Given the description of an element on the screen output the (x, y) to click on. 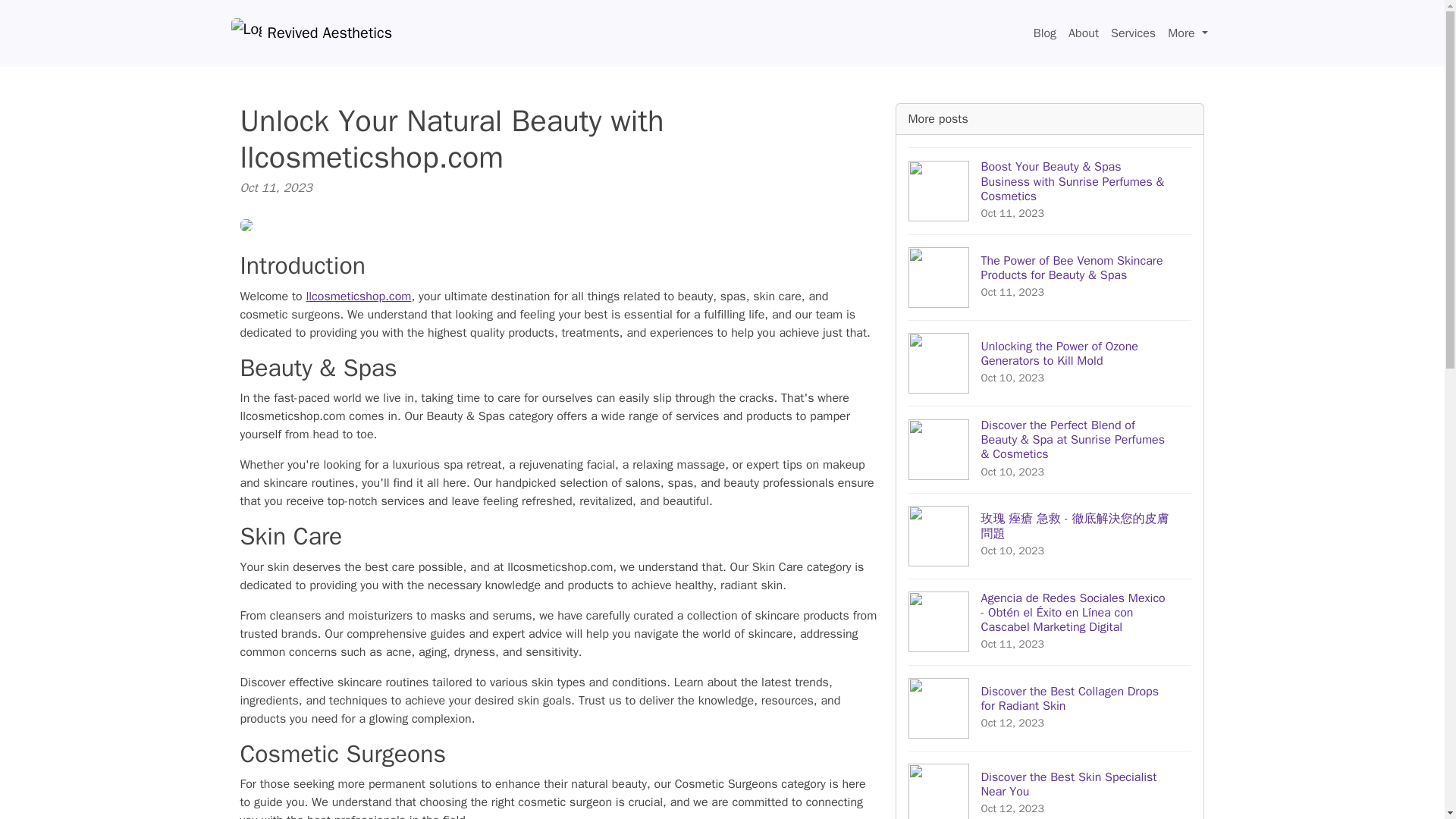
About (1083, 33)
More (1186, 33)
Blog (1044, 33)
Services (1050, 785)
Revived Aesthetics (1133, 33)
llcosmeticshop.com (310, 33)
